Given the description of an element on the screen output the (x, y) to click on. 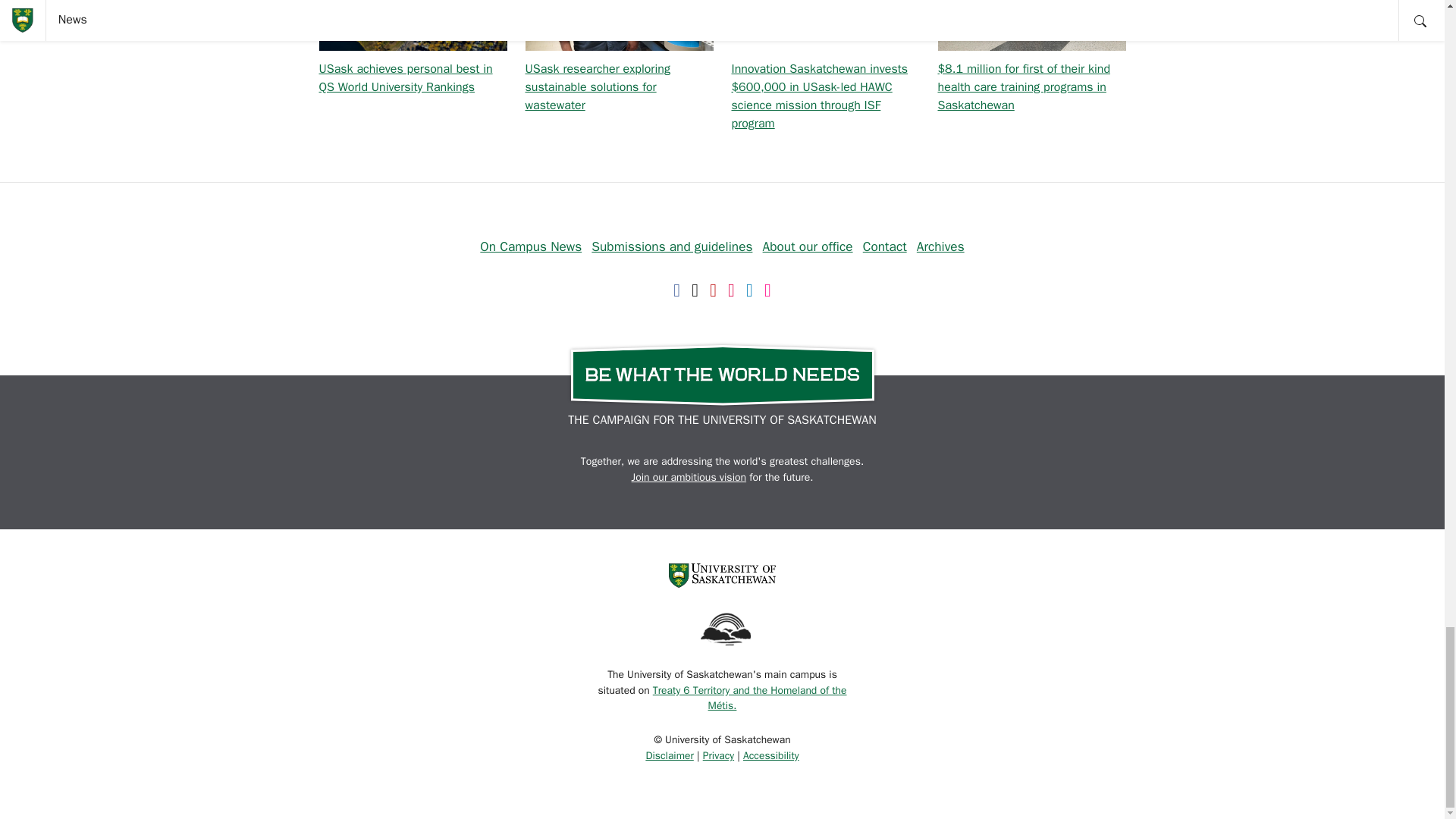
Join our ambitious vision (688, 477)
Submissions and guidelines (671, 246)
Archives (940, 246)
Privacy (718, 755)
Contact (885, 246)
Accessibility (770, 755)
On Campus News (530, 246)
USask achieves personal best in QS World University Rankings (405, 78)
Disclaimer (669, 755)
